Given the description of an element on the screen output the (x, y) to click on. 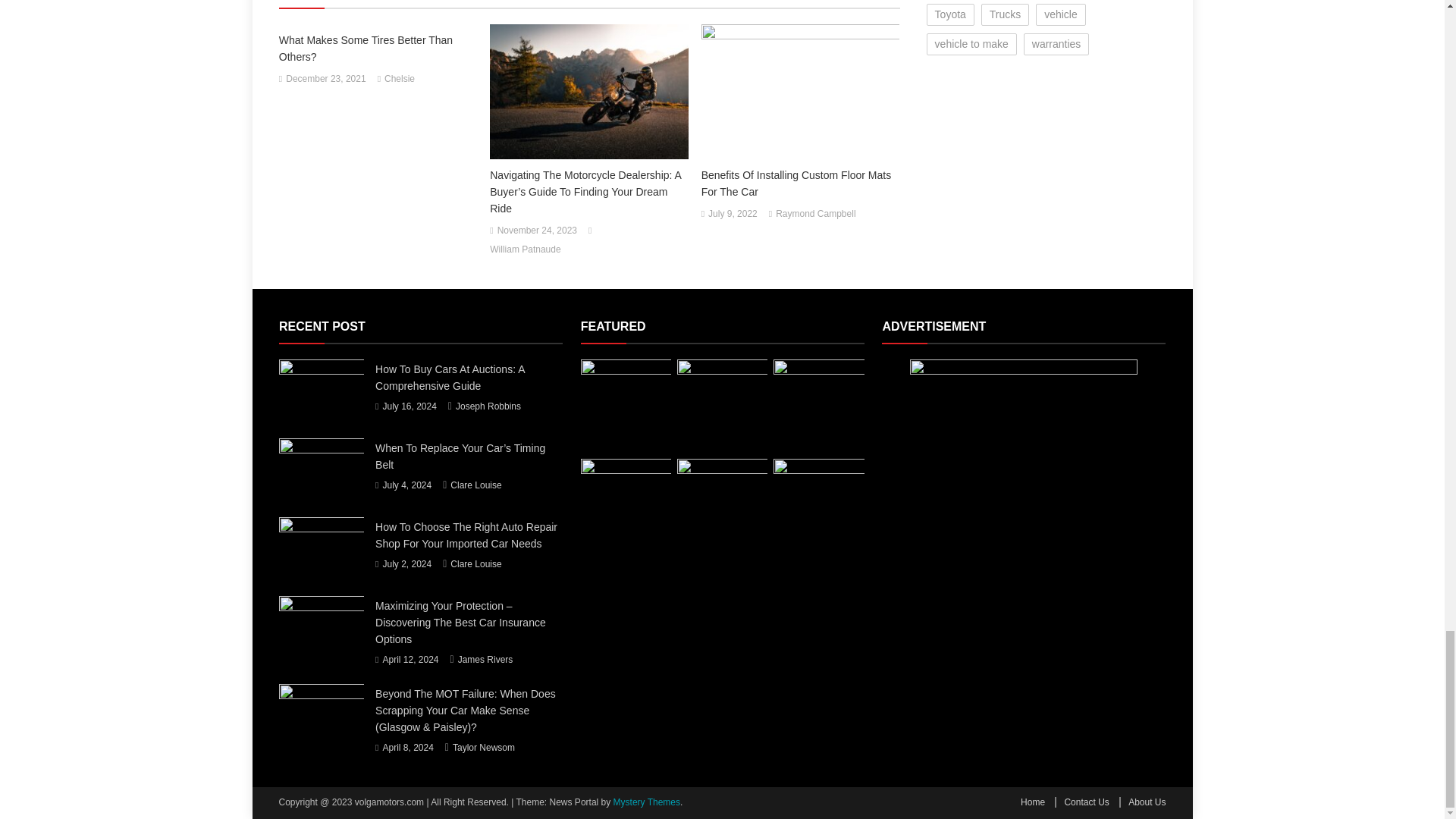
Raymond Campbell (816, 214)
July 9, 2022 (732, 214)
Benefits Of Installing Custom Floor Mats For The Car (800, 183)
December 23, 2021 (325, 79)
What Makes Some Tires Better Than Others? (378, 48)
November 24, 2023 (536, 230)
Chelsie (399, 79)
William Patnaude (524, 249)
